Given the description of an element on the screen output the (x, y) to click on. 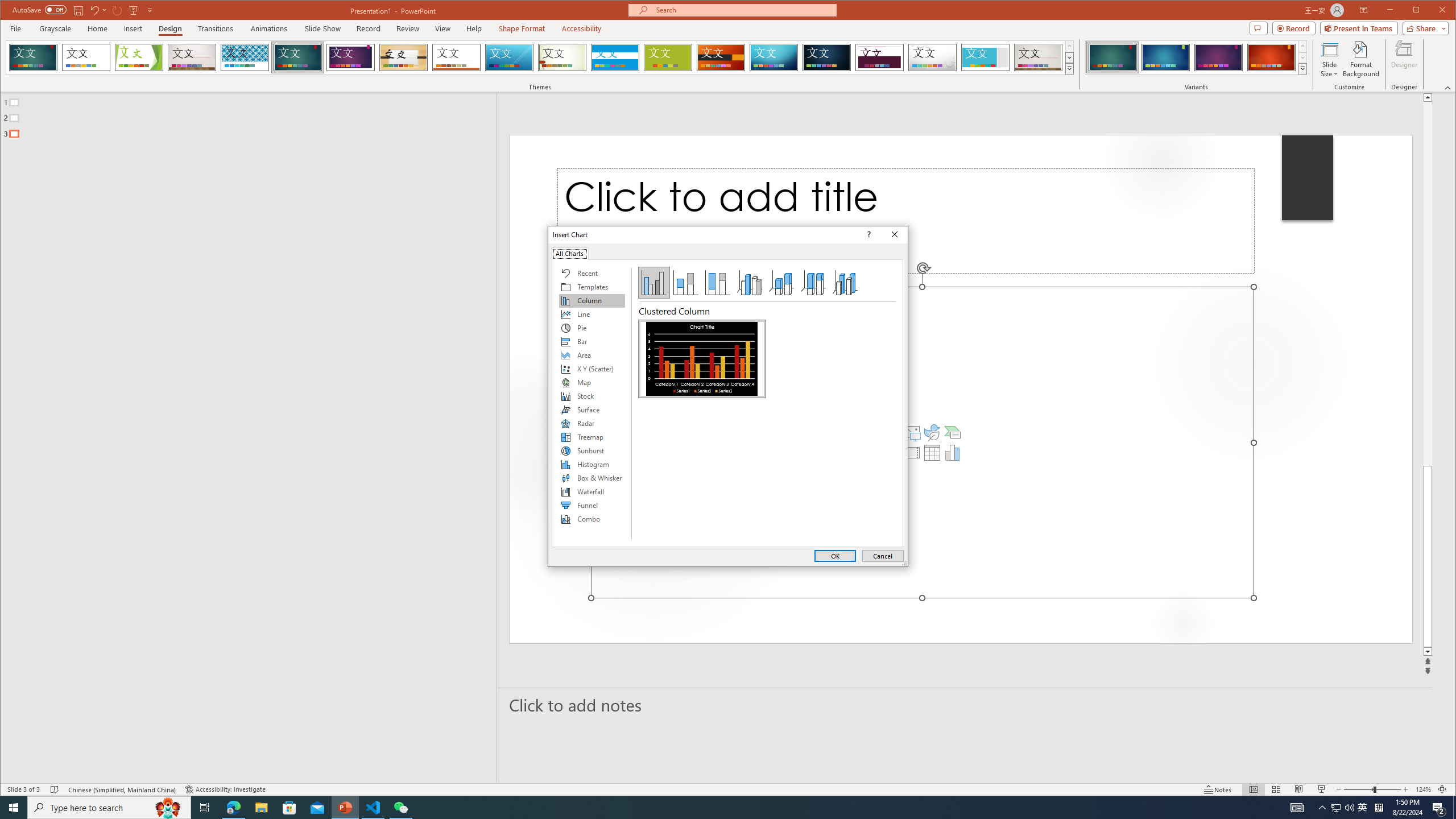
Themes (1069, 68)
Map (591, 382)
Histogram (591, 464)
Combo (591, 518)
100% Stacked Column (717, 282)
Droplet (932, 57)
Zoom 124% (1422, 789)
Organic (403, 57)
Basis (668, 57)
